Given the description of an element on the screen output the (x, y) to click on. 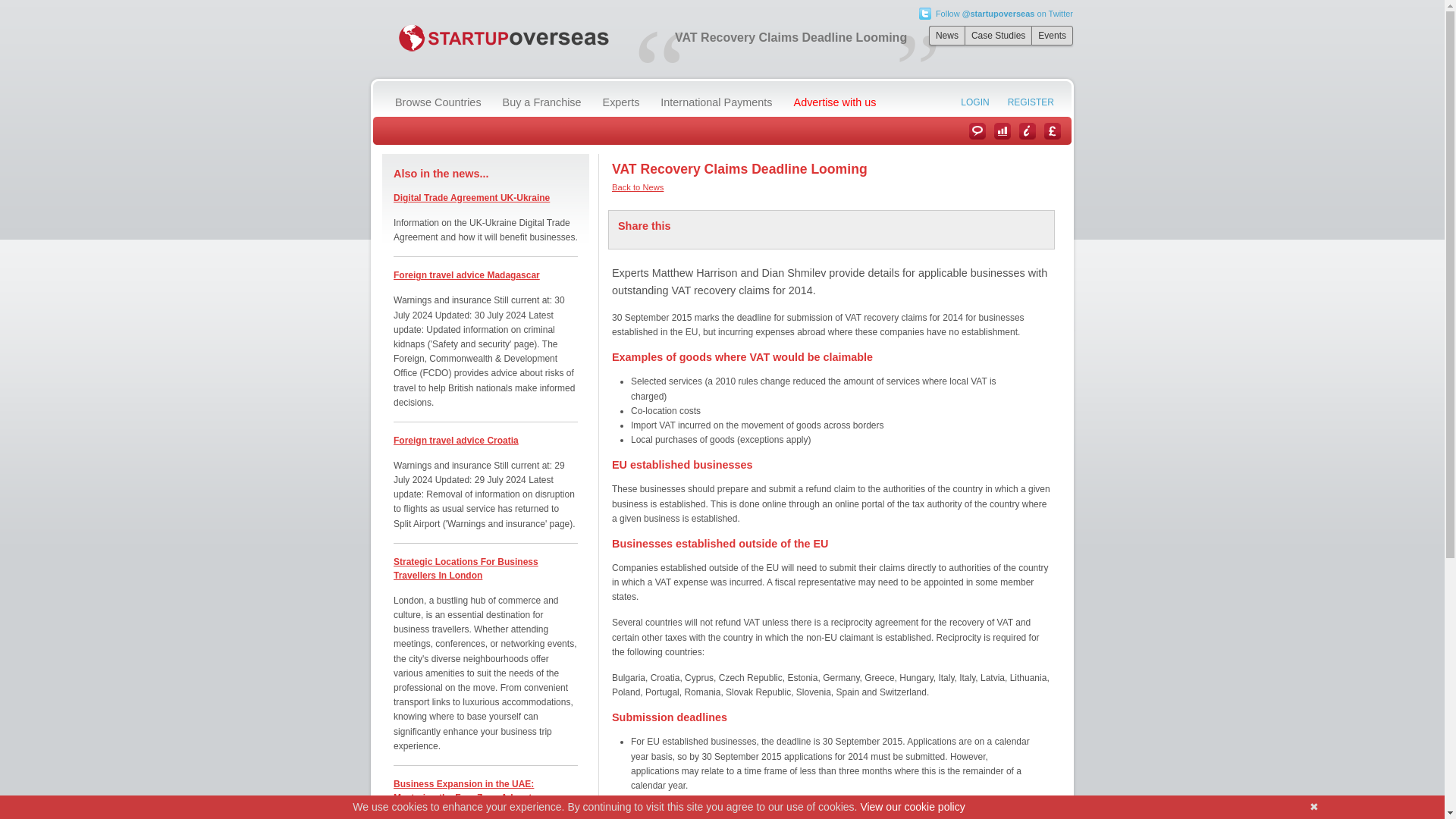
Foreign travel advice Madagascar (466, 275)
Browse Countries (435, 102)
Digital Trade Agreement UK-Ukraine (471, 197)
Case Studies (1002, 130)
News (977, 130)
Currency Converter (1052, 130)
Back to News (637, 186)
Buy a Franchise (540, 102)
Case Studies (996, 35)
LOGIN (973, 101)
International Payments (713, 102)
Information (1027, 130)
News (945, 35)
Strategic Locations For Business Travellers In London (465, 568)
